Given the description of an element on the screen output the (x, y) to click on. 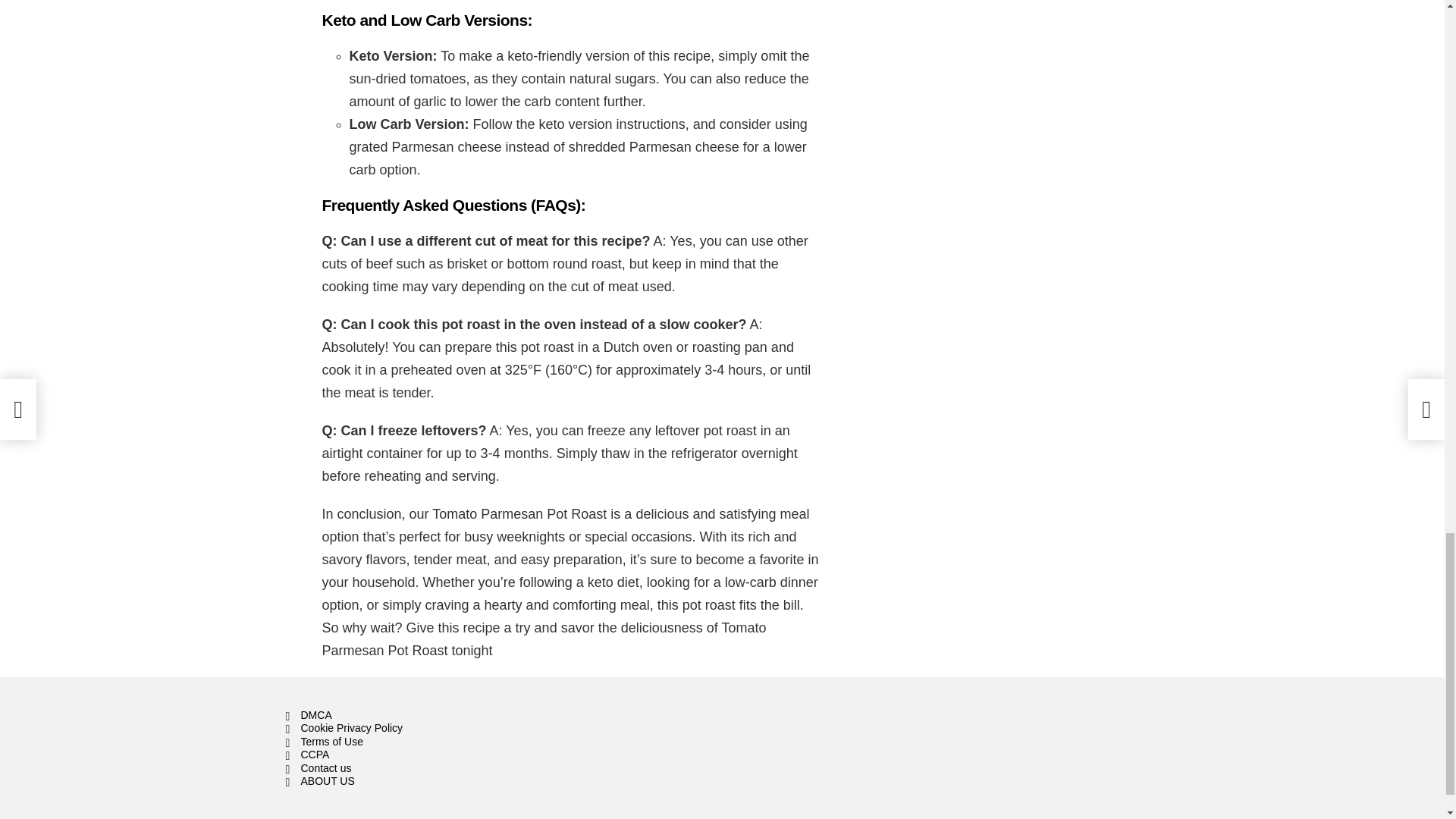
ABOUT US (422, 781)
DMCA (422, 715)
Terms of Use (422, 742)
CCPA (422, 755)
Cookie Privacy Policy (422, 728)
Contact us (422, 768)
